Given the description of an element on the screen output the (x, y) to click on. 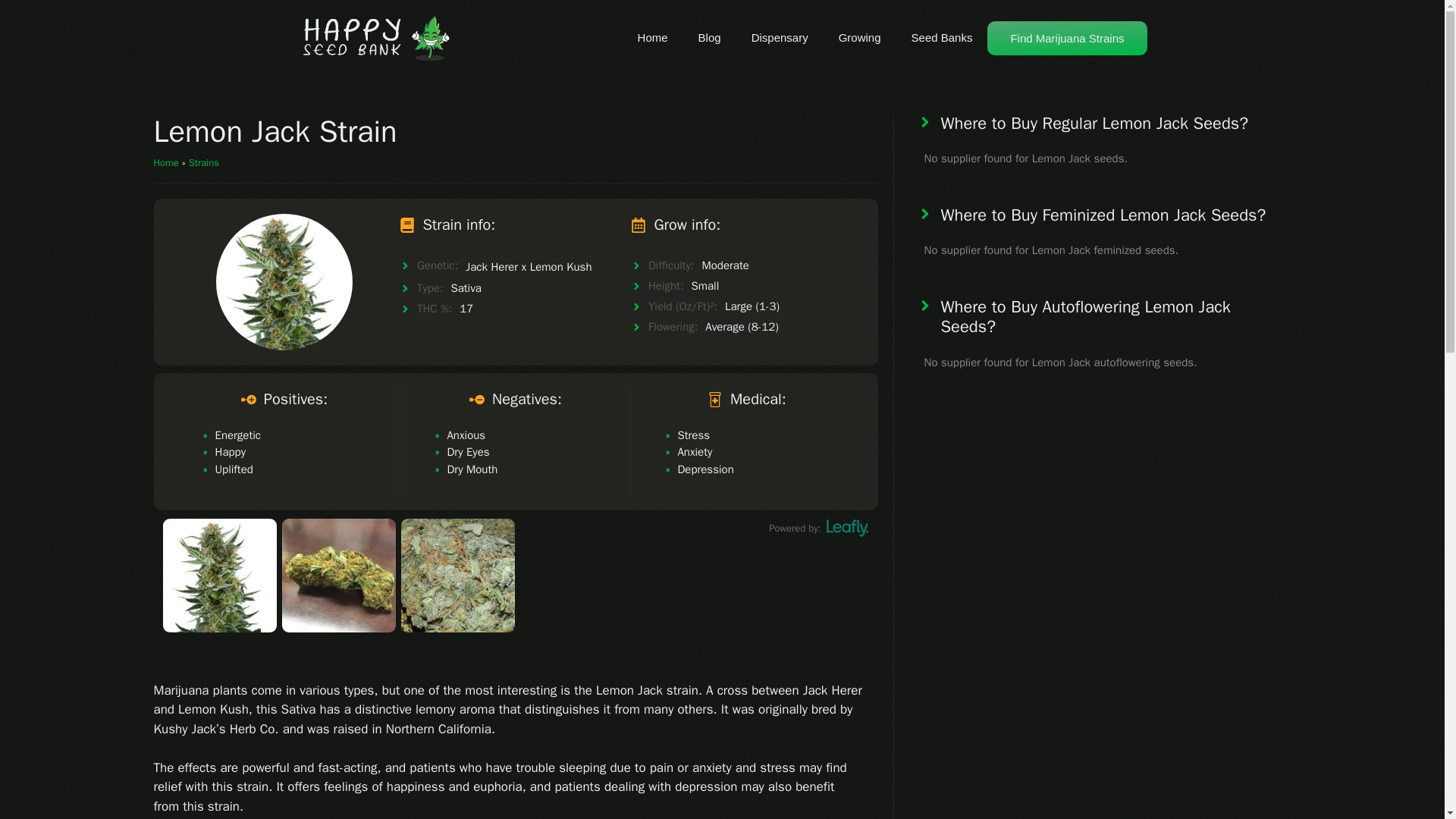
Seed Banks (942, 37)
Blog (709, 37)
Home (164, 162)
Growing (860, 37)
Home (652, 37)
Strains (204, 162)
Find Marijuana Strains (1067, 38)
leafly icon (847, 527)
Dispensary (780, 37)
